Given the description of an element on the screen output the (x, y) to click on. 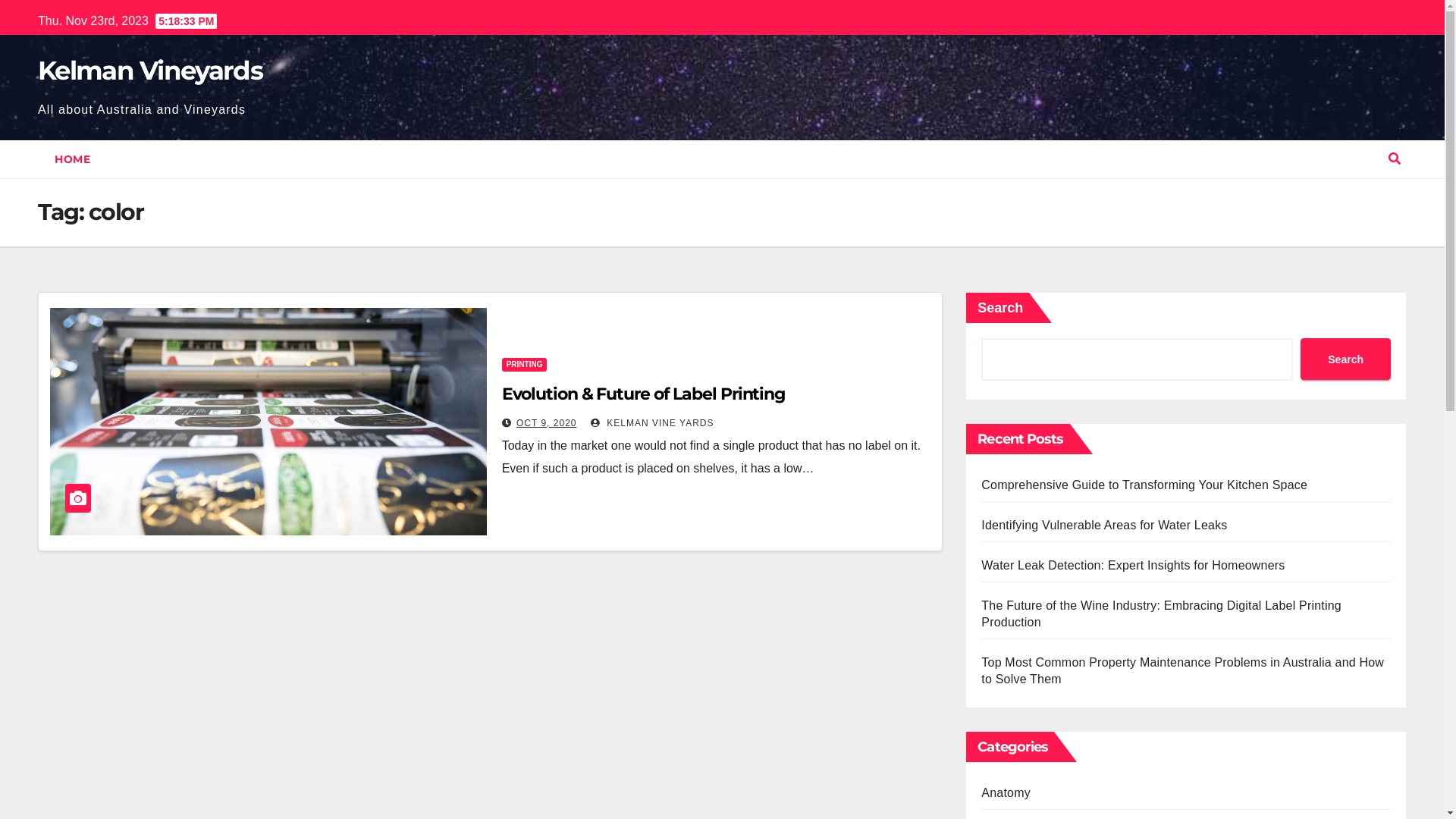
HOME Element type: text (71, 159)
KELMAN VINE YARDS Element type: text (652, 422)
Comprehensive Guide to Transforming Your Kitchen Space Element type: text (1144, 484)
Evolution & Future of Label Printing Element type: text (643, 393)
PRINTING Element type: text (524, 364)
Anatomy Element type: text (1005, 792)
OCT 9, 2020 Element type: text (546, 422)
Search Element type: text (1345, 358)
Water Leak Detection: Expert Insights for Homeowners Element type: text (1132, 564)
Identifying Vulnerable Areas for Water Leaks Element type: text (1103, 524)
Kelman Vineyards Element type: text (149, 70)
